Given the description of an element on the screen output the (x, y) to click on. 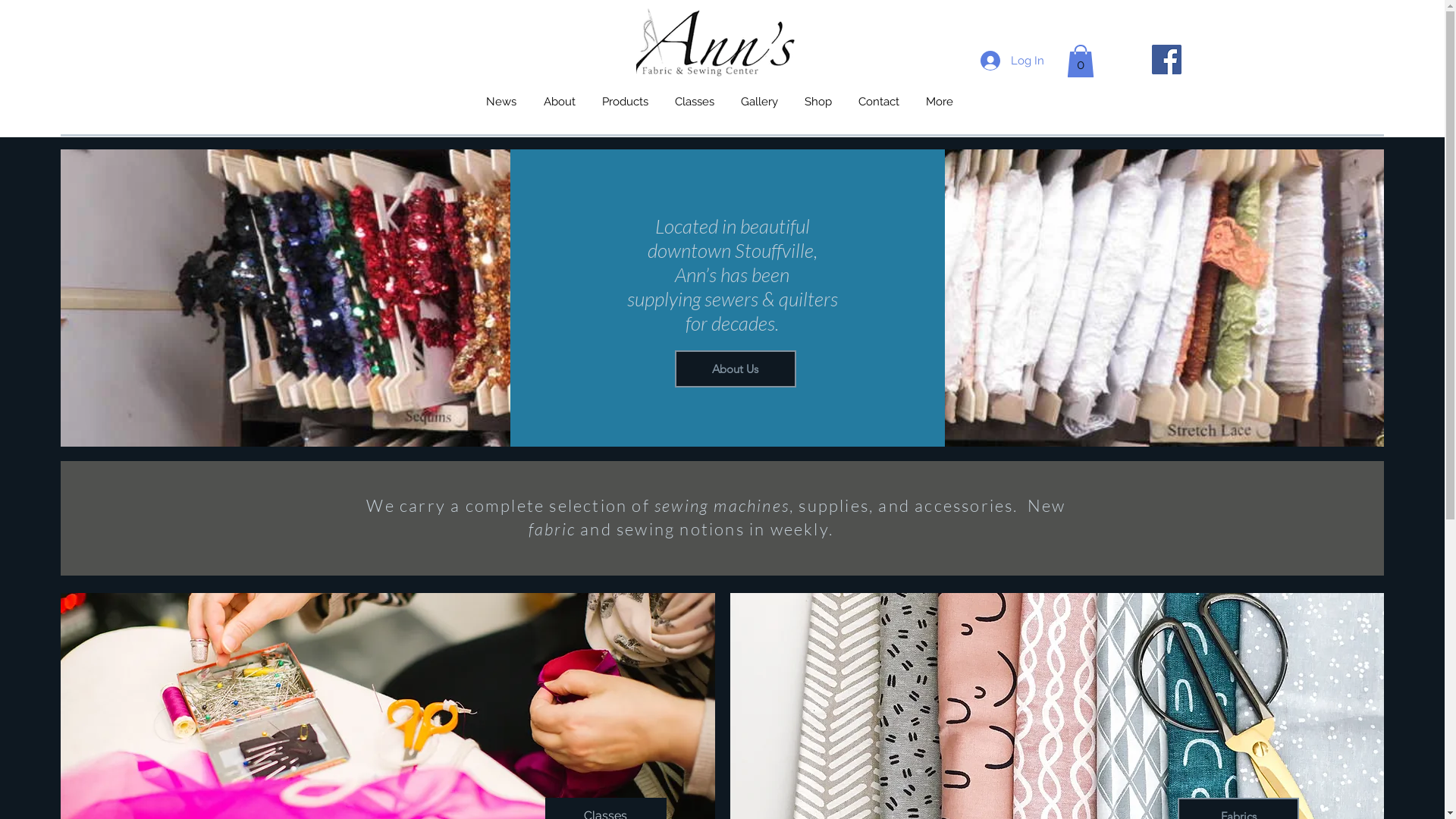
Log In Element type: text (1011, 60)
Gallery Element type: text (759, 101)
News Element type: text (500, 101)
sewing machines Element type: text (721, 505)
Contact Element type: text (878, 101)
Classes Element type: text (694, 101)
fabric  Element type: text (554, 528)
0 Element type: text (1079, 60)
About Element type: text (558, 101)
Shop Element type: text (818, 101)
About Us Element type: text (735, 368)
